Given the description of an element on the screen output the (x, y) to click on. 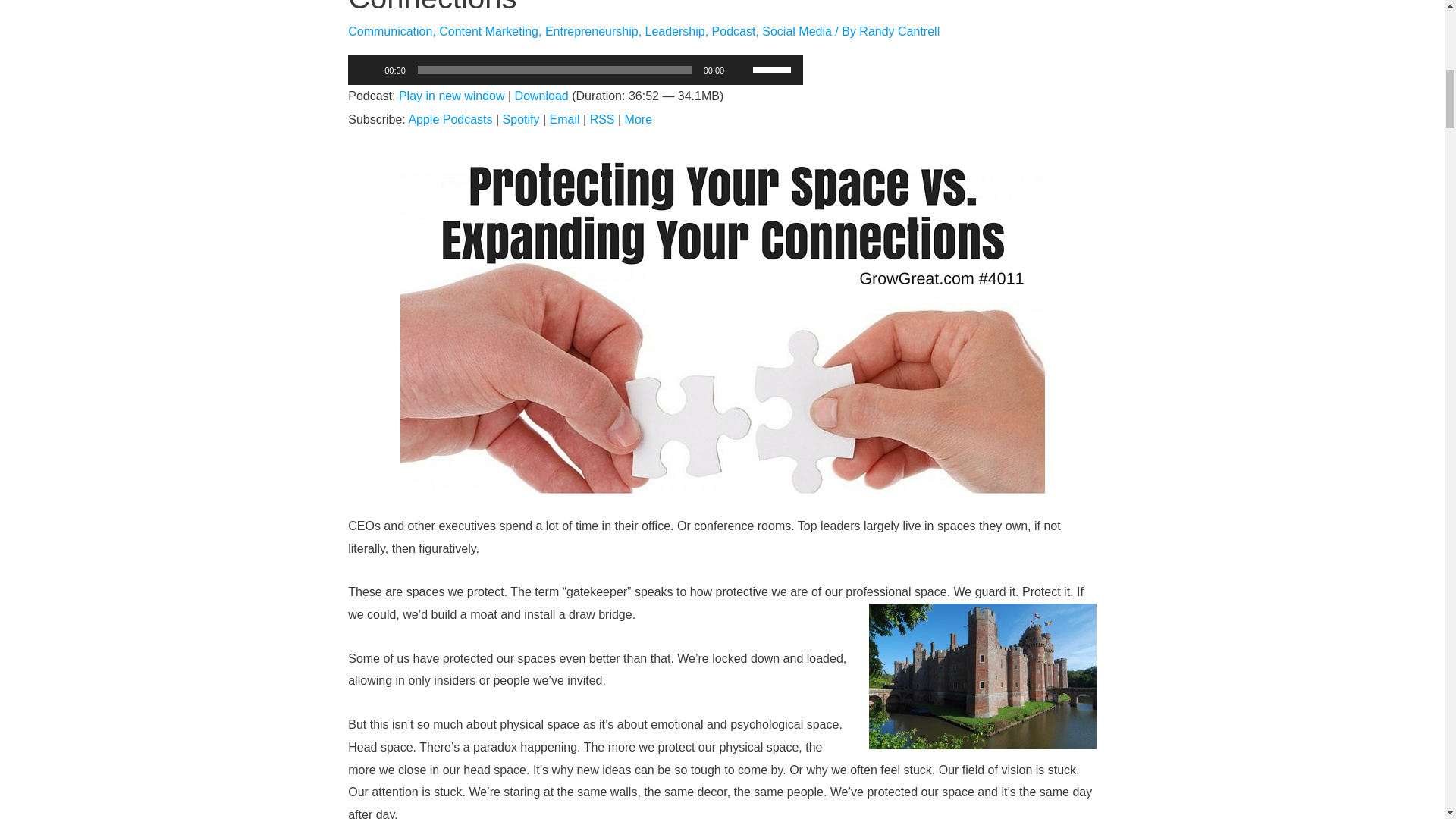
Leadership (674, 31)
Email (564, 119)
Subscribe via RSS (601, 119)
Social Media (796, 31)
More (638, 119)
4011 Protecting Your Space Vs. Expanding Your Connections (672, 7)
Spotify (521, 119)
Subscribe on Apple Podcasts (449, 119)
Podcast (733, 31)
Download (542, 95)
Play in new window (451, 95)
Play (367, 69)
Subscribe by Email (564, 119)
Entrepreneurship (591, 31)
Communication (389, 31)
